Given the description of an element on the screen output the (x, y) to click on. 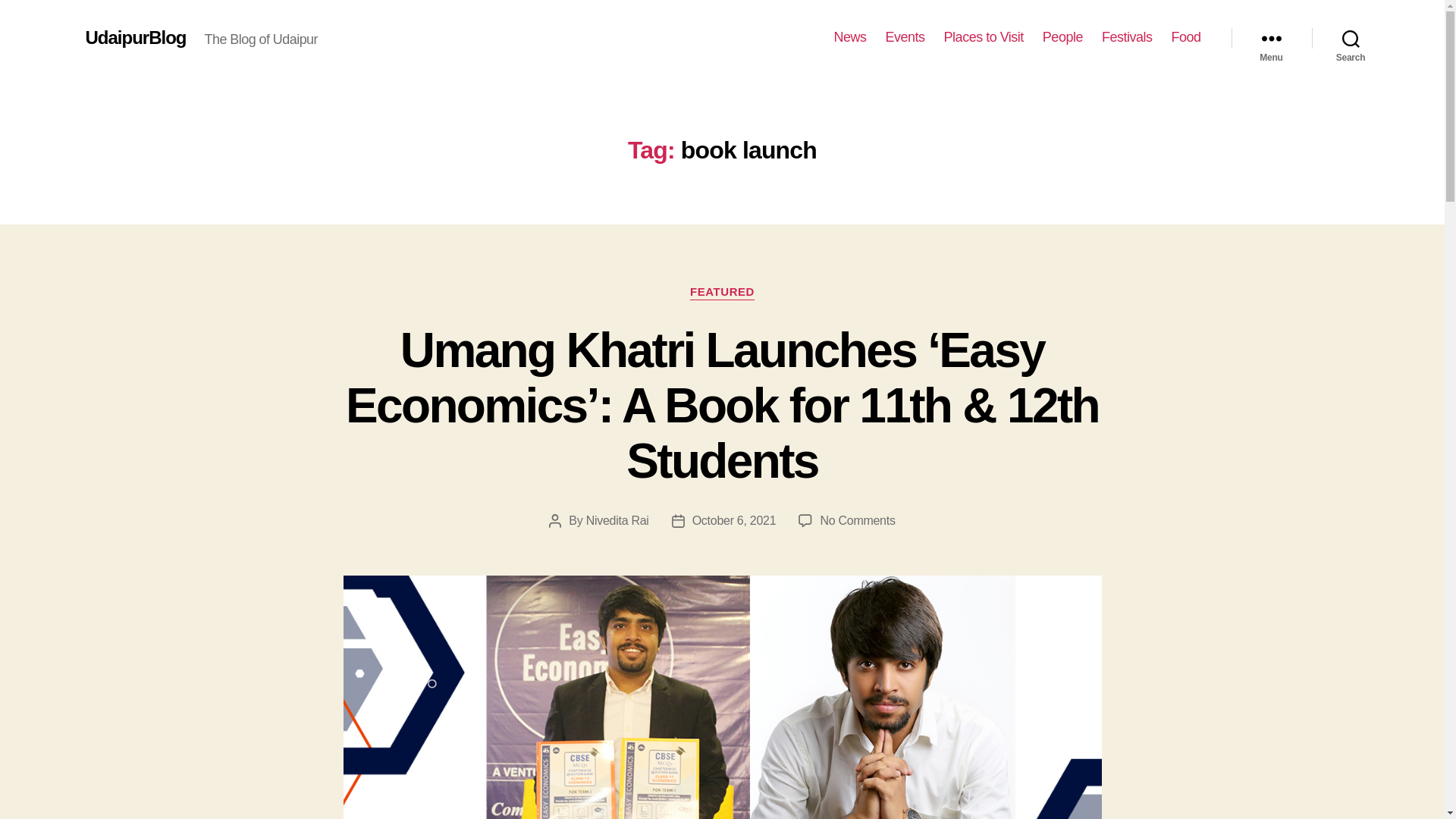
October 6, 2021 (734, 520)
FEATURED (722, 292)
Nivedita Rai (617, 520)
UdaipurBlog (135, 37)
Festivals (1127, 37)
News (850, 37)
People (1062, 37)
Events (904, 37)
Food (1184, 37)
Menu (1271, 37)
Search (1350, 37)
Places to Visit (983, 37)
